Given the description of an element on the screen output the (x, y) to click on. 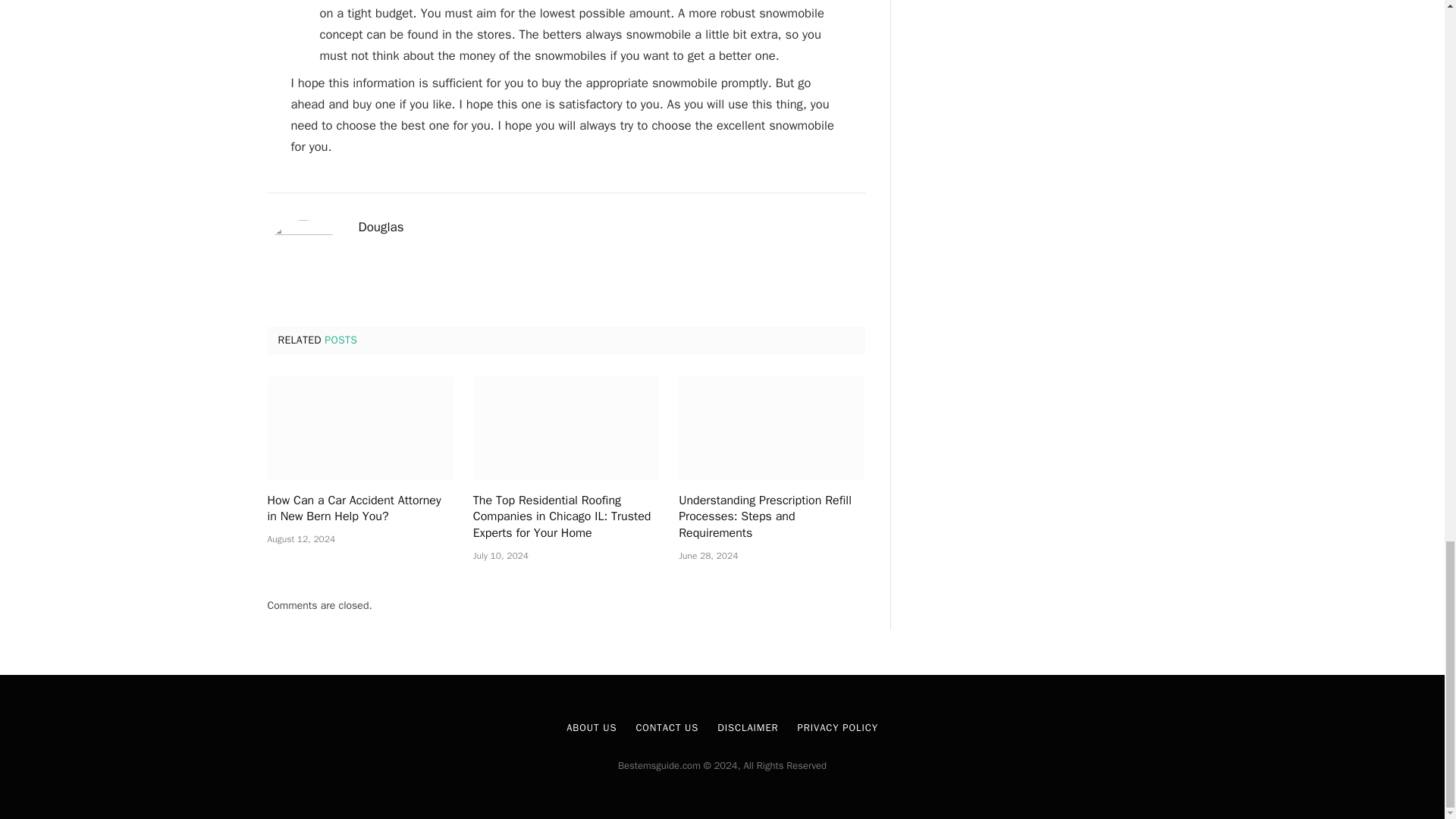
Douglas (380, 227)
Posts by Douglas (380, 227)
How Can a Car Accident Attorney in New Bern Help You? (359, 427)
How Can a Car Accident Attorney in New Bern Help You? (359, 509)
